Given the description of an element on the screen output the (x, y) to click on. 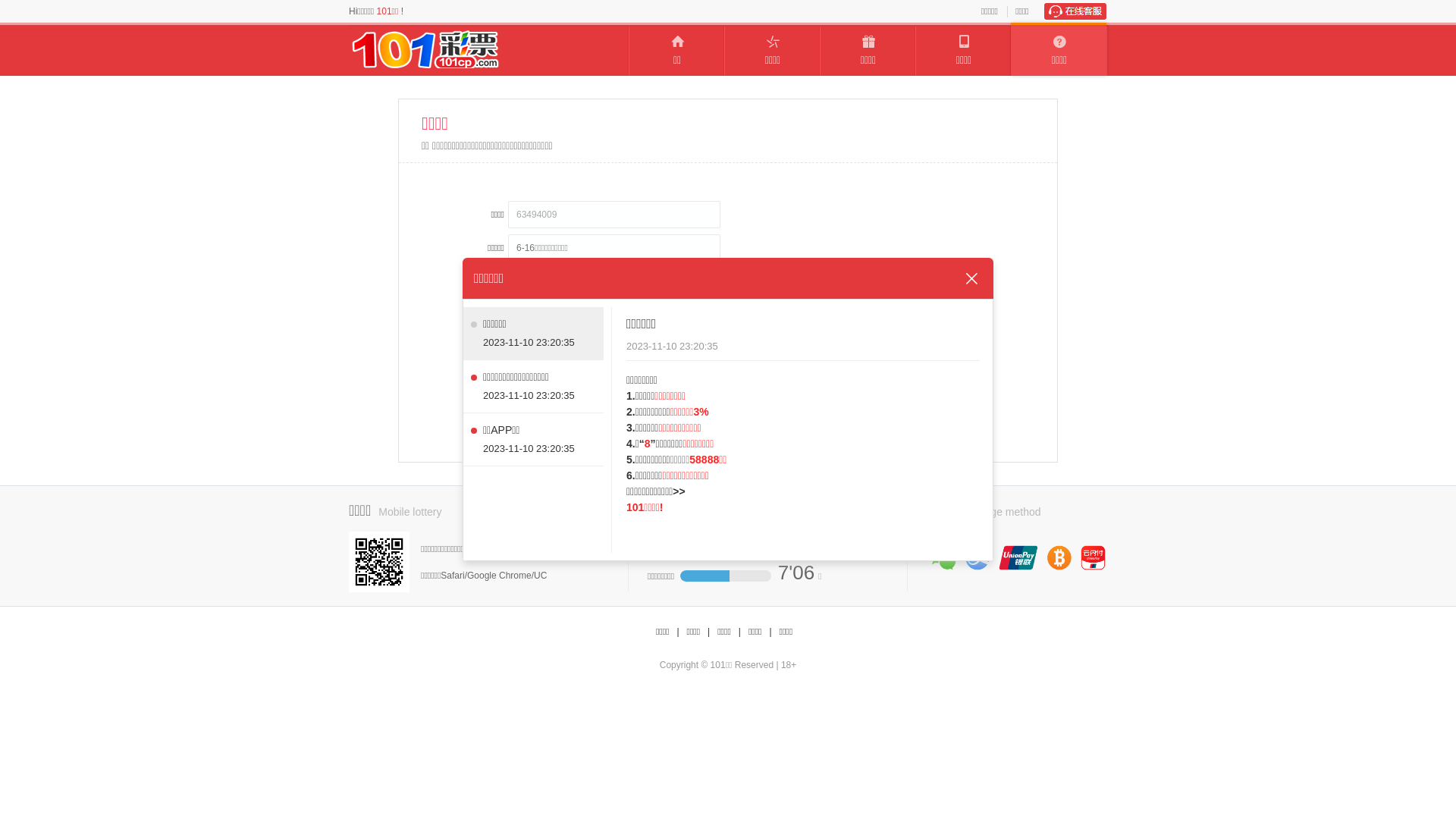
| Element type: text (677, 631)
| Element type: text (769, 631)
| Element type: text (708, 631)
| Element type: text (739, 631)
